Given the description of an element on the screen output the (x, y) to click on. 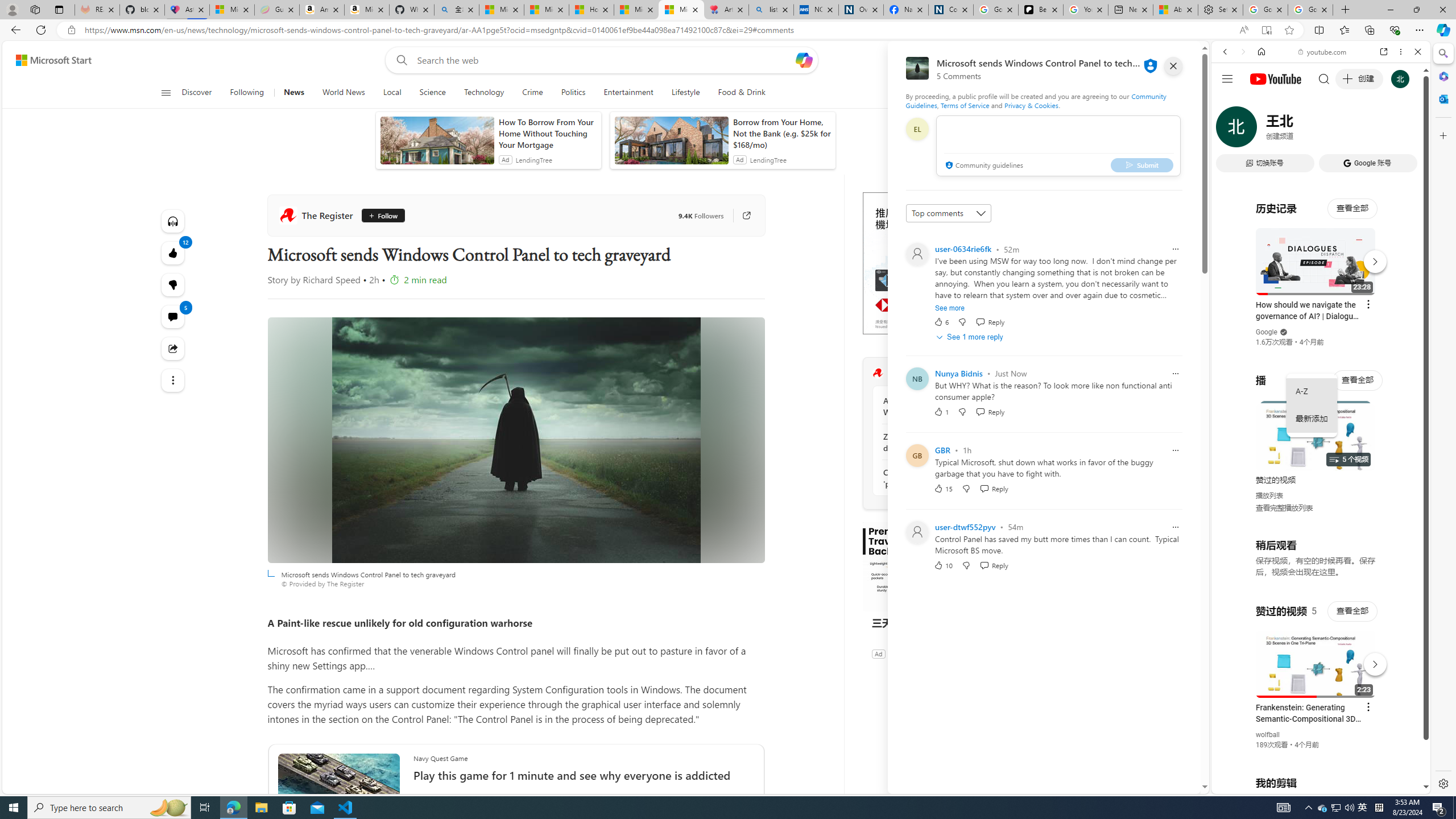
12 (172, 284)
Skip to footer (46, 59)
wolfball (1268, 734)
Arthritis: Ask Health Professionals (726, 9)
Search Filter, WEB (1230, 129)
Entertainment (628, 92)
